Given the description of an element on the screen output the (x, y) to click on. 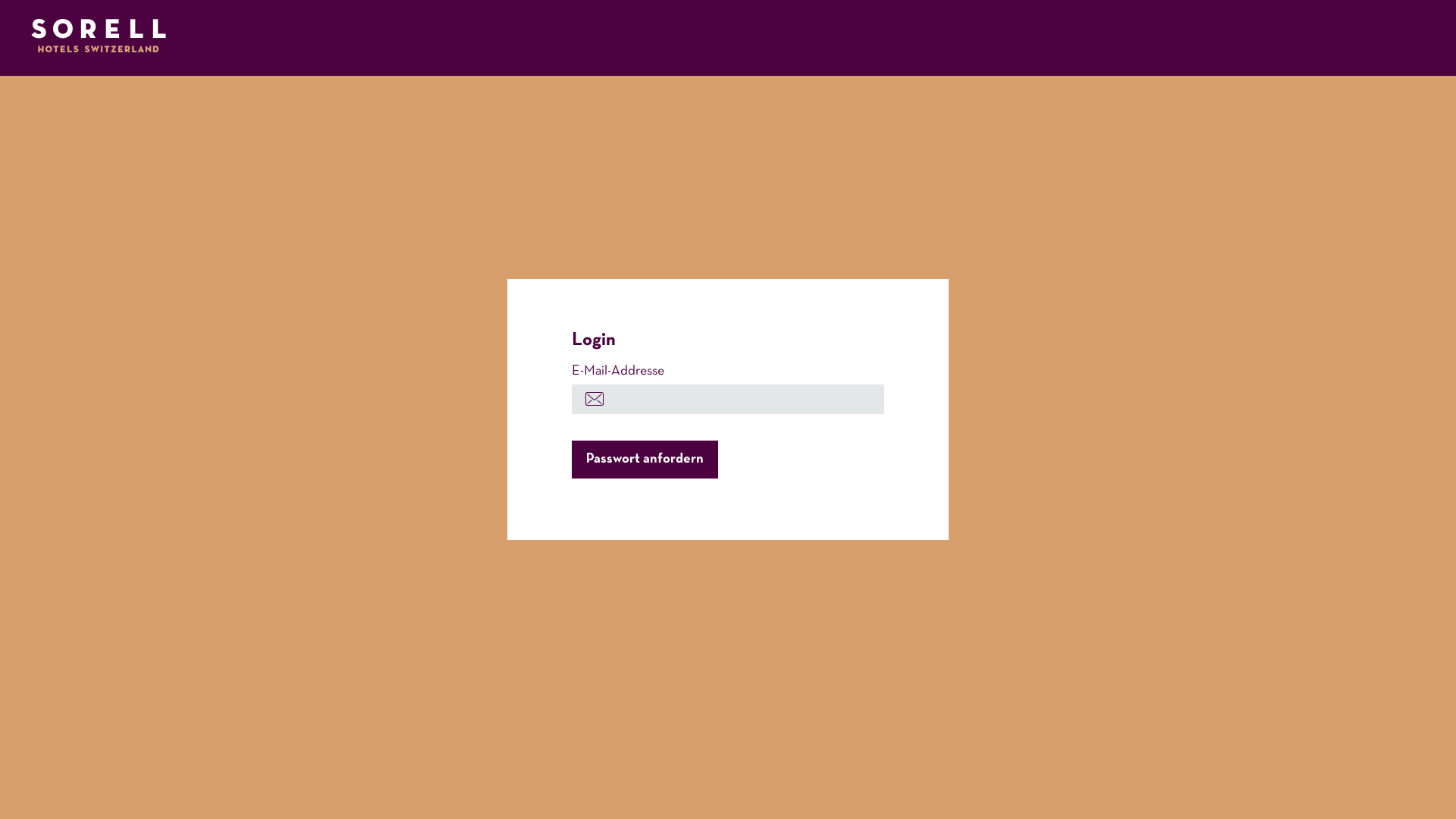
Passwort anfordern Element type: text (644, 459)
